Given the description of an element on the screen output the (x, y) to click on. 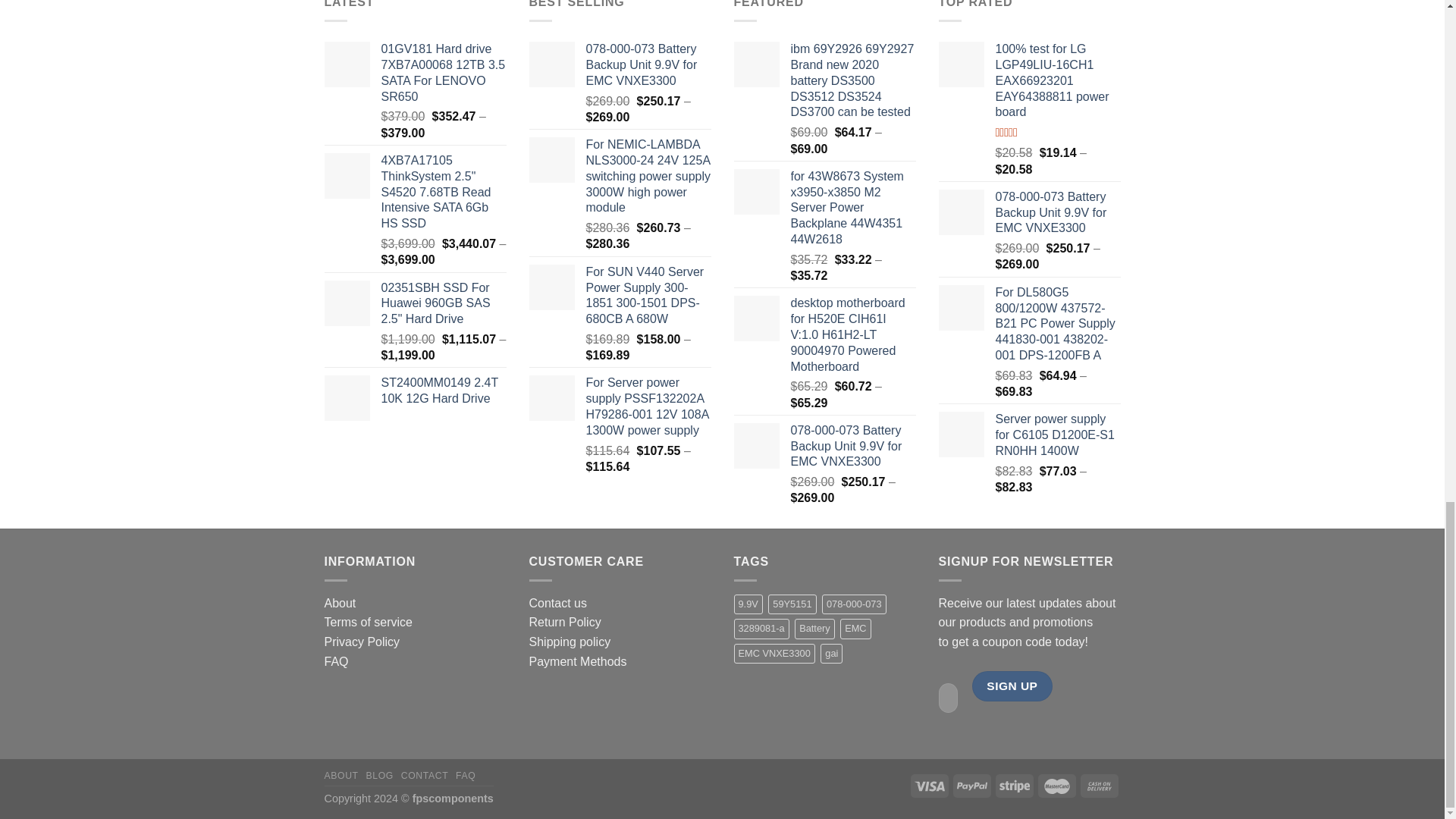
Sign Up (1012, 685)
